Given the description of an element on the screen output the (x, y) to click on. 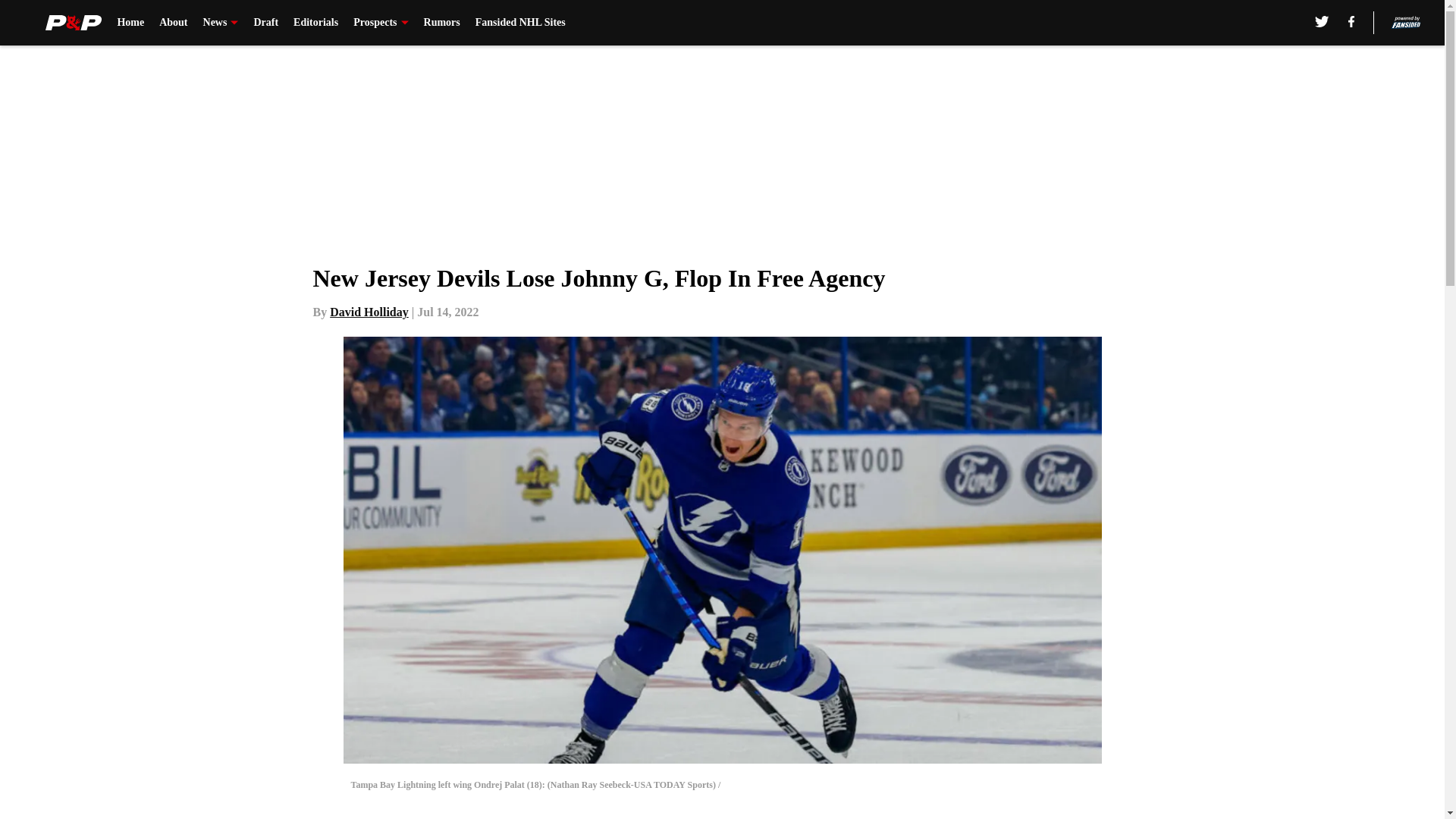
Home (130, 22)
Editorials (315, 22)
Rumors (441, 22)
Fansided NHL Sites (521, 22)
David Holliday (369, 311)
About (172, 22)
Draft (265, 22)
